Given the description of an element on the screen output the (x, y) to click on. 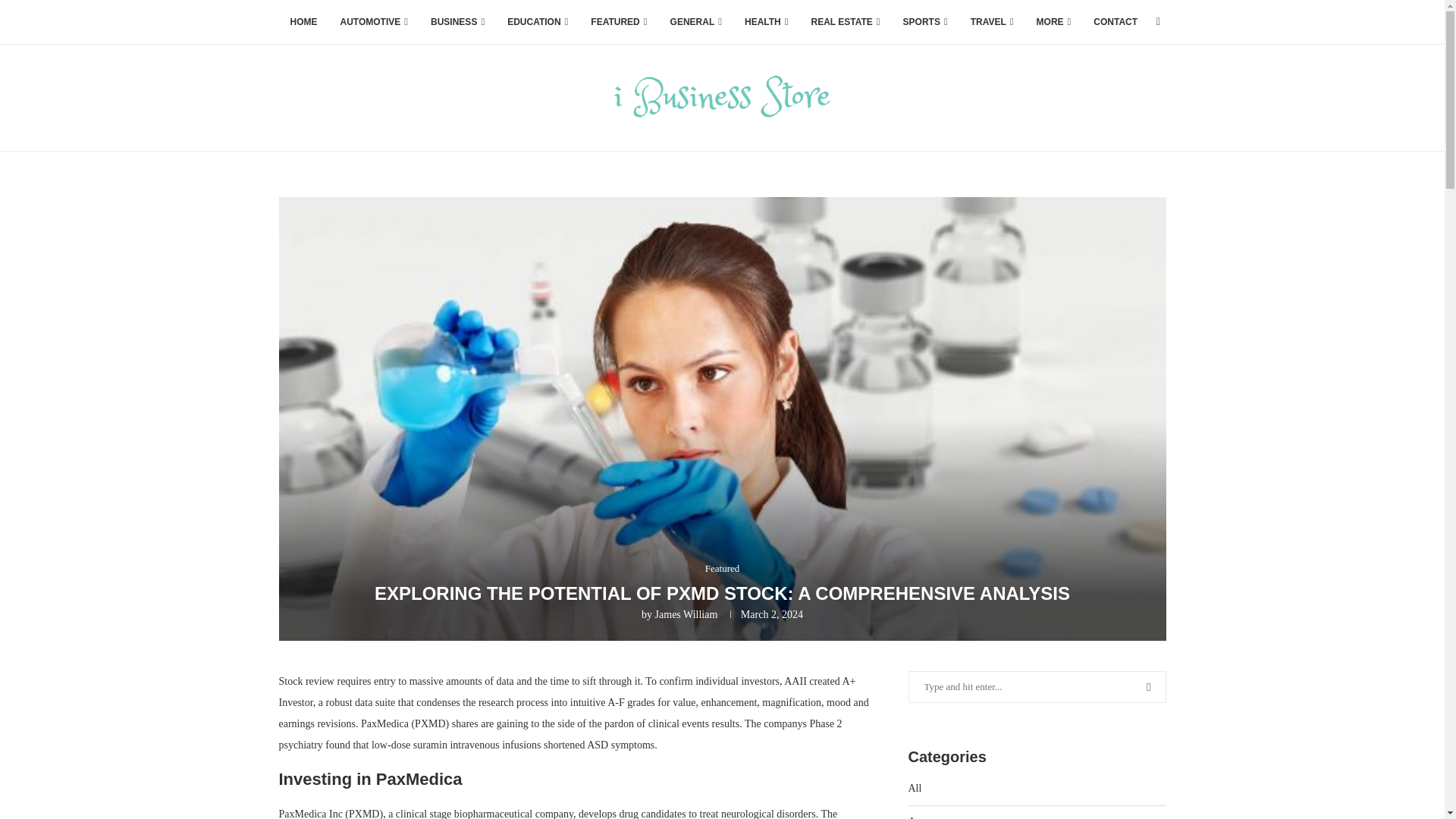
AUTOMOTIVE (374, 22)
HOME (304, 22)
EDUCATION (537, 22)
BUSINESS (457, 22)
